Given the description of an element on the screen output the (x, y) to click on. 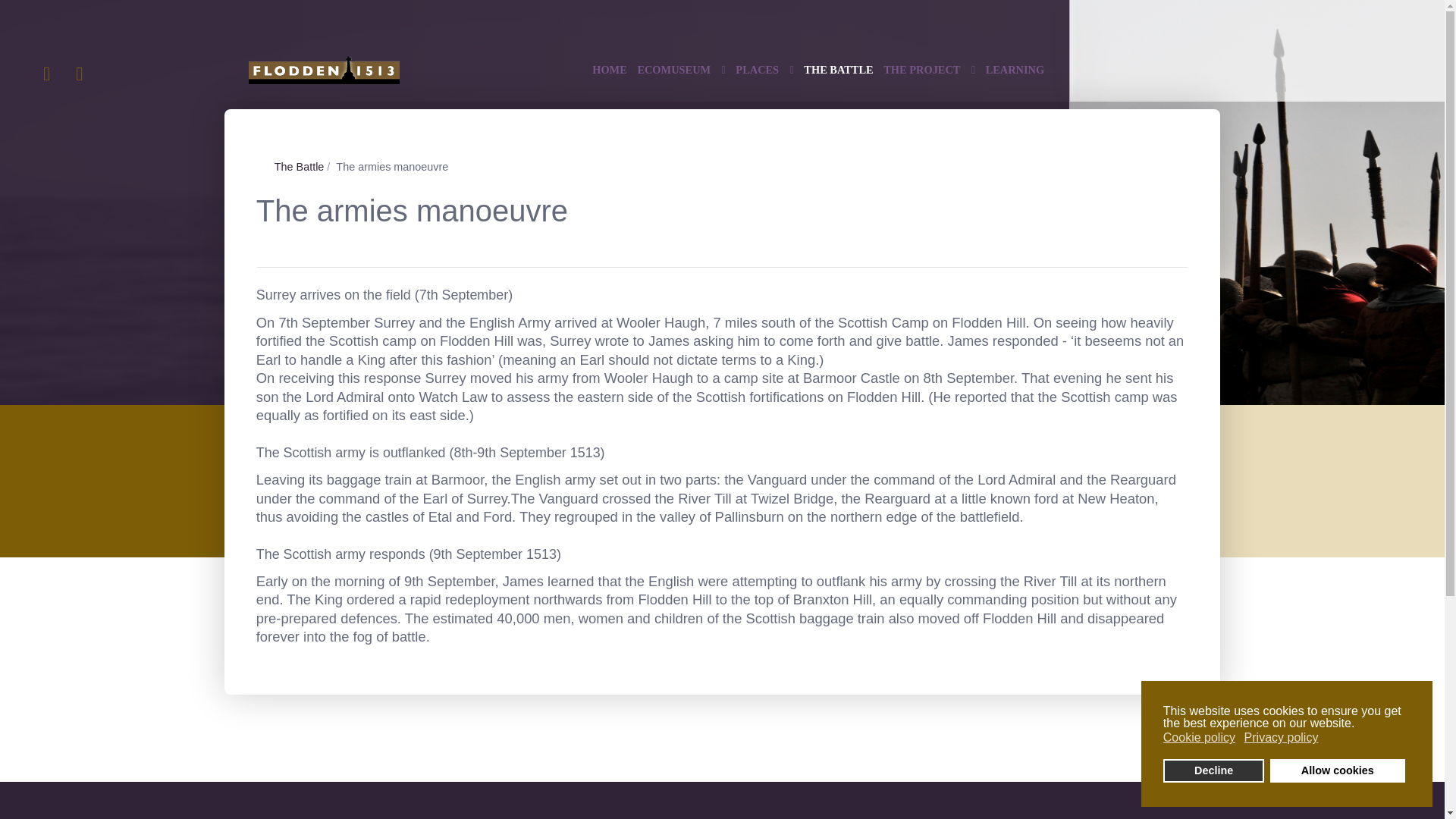
LEARNING (1015, 70)
Allow cookies (1337, 770)
HOME (609, 70)
THE BATTLE (837, 70)
To Top (1283, 741)
Decline (1214, 770)
ECOMUSEUM (681, 70)
THE PROJECT (929, 70)
PLACES (764, 70)
The Battle (299, 166)
Privacy policy (1282, 737)
Cookie policy (1200, 737)
